Given the description of an element on the screen output the (x, y) to click on. 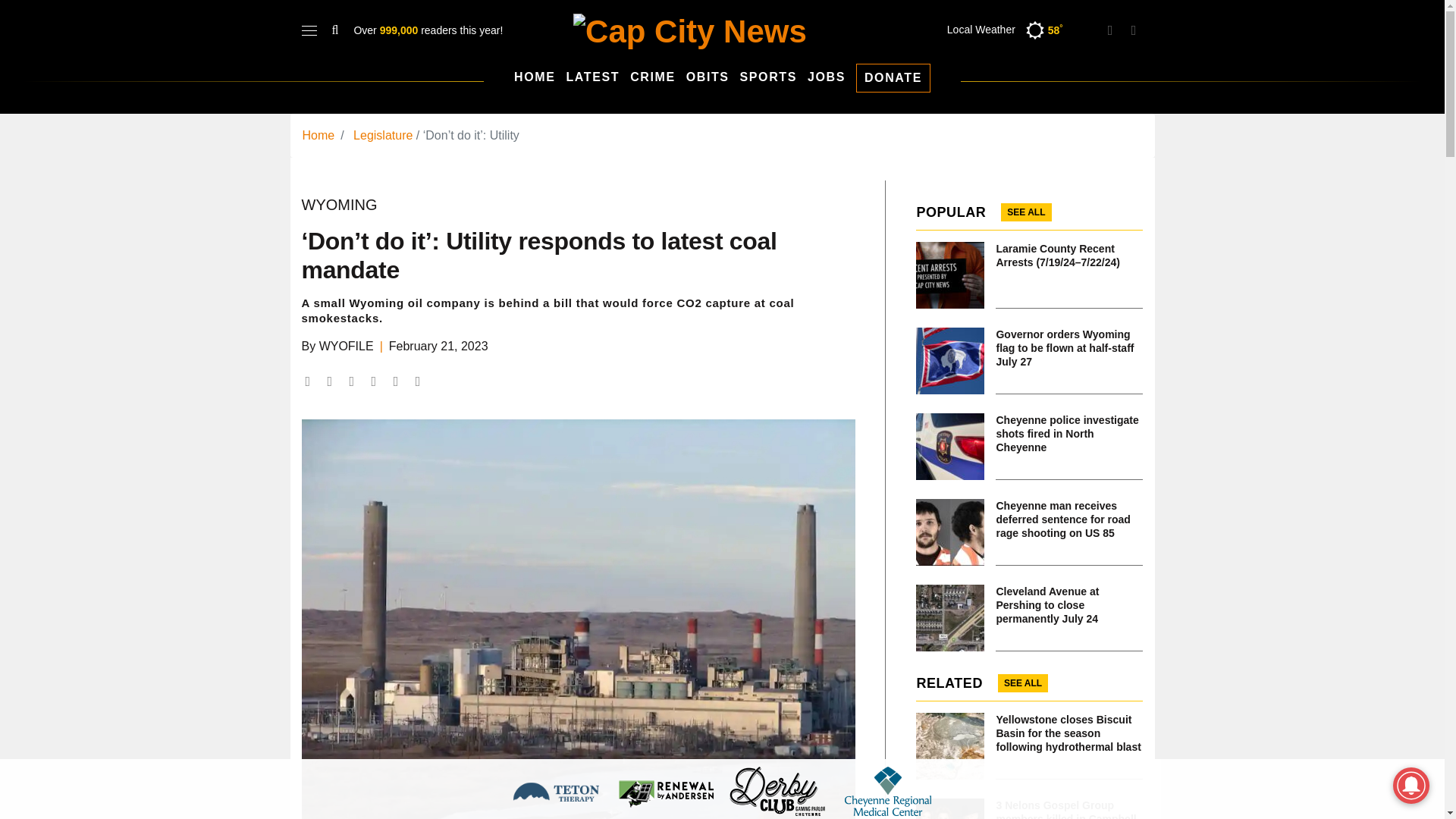
instagram (1109, 30)
Local Weather (997, 30)
Home (533, 77)
Crime (652, 77)
Obits (707, 77)
Latest (593, 77)
HOME (533, 77)
facebook (1133, 30)
999,000 (401, 30)
